Given the description of an element on the screen output the (x, y) to click on. 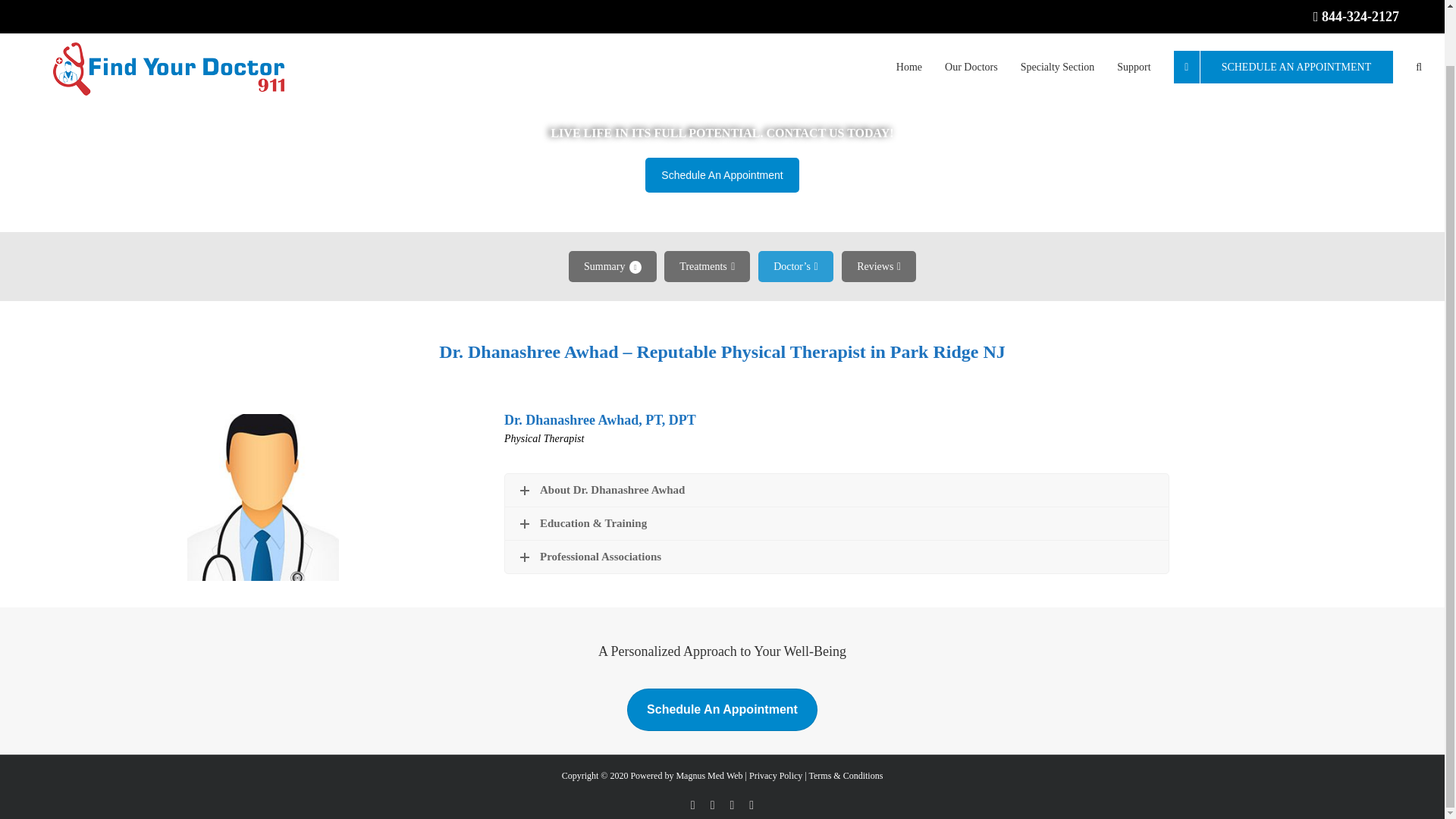
Specialty Section (1057, 18)
dummy men (263, 496)
Our Doctors (970, 18)
SCHEDULE AN APPOINTMENT (1283, 18)
